Given the description of an element on the screen output the (x, y) to click on. 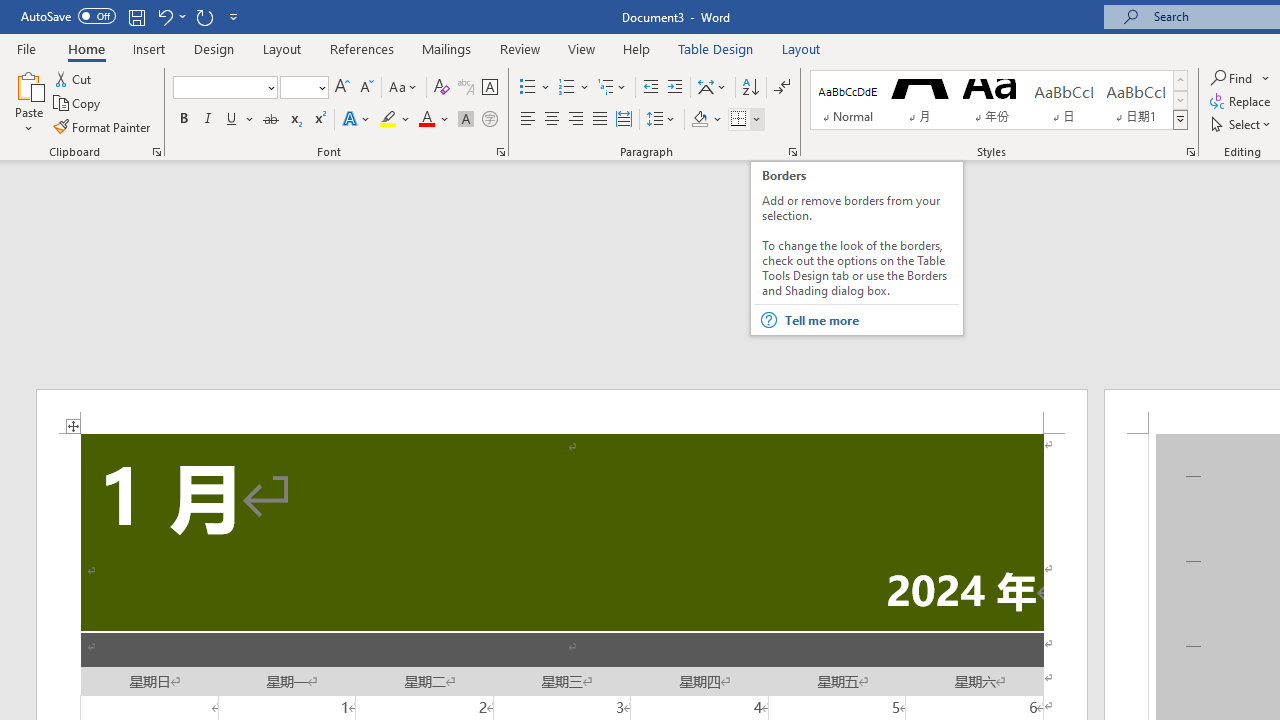
Multilevel List (613, 87)
Decrease Indent (650, 87)
Enclose Characters... (489, 119)
Paragraph... (792, 151)
Undo Apply Quick Style (164, 15)
Select (1242, 124)
Tell me more (870, 320)
Character Shading (465, 119)
Font Color (434, 119)
